Given the description of an element on the screen output the (x, y) to click on. 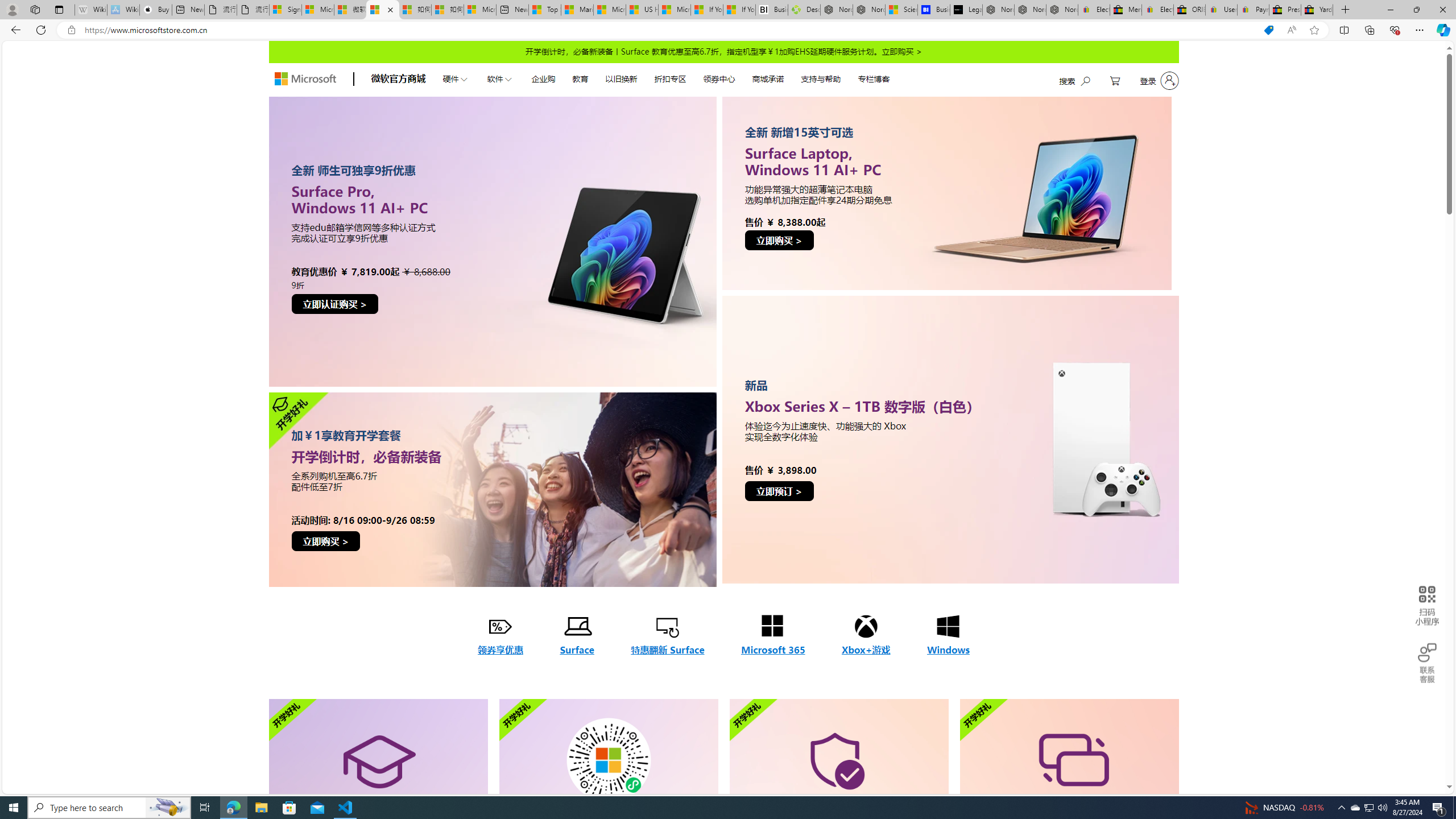
Microsoft account | Account Checkup (479, 9)
User Privacy Notice | eBay (1221, 9)
